Given the description of an element on the screen output the (x, y) to click on. 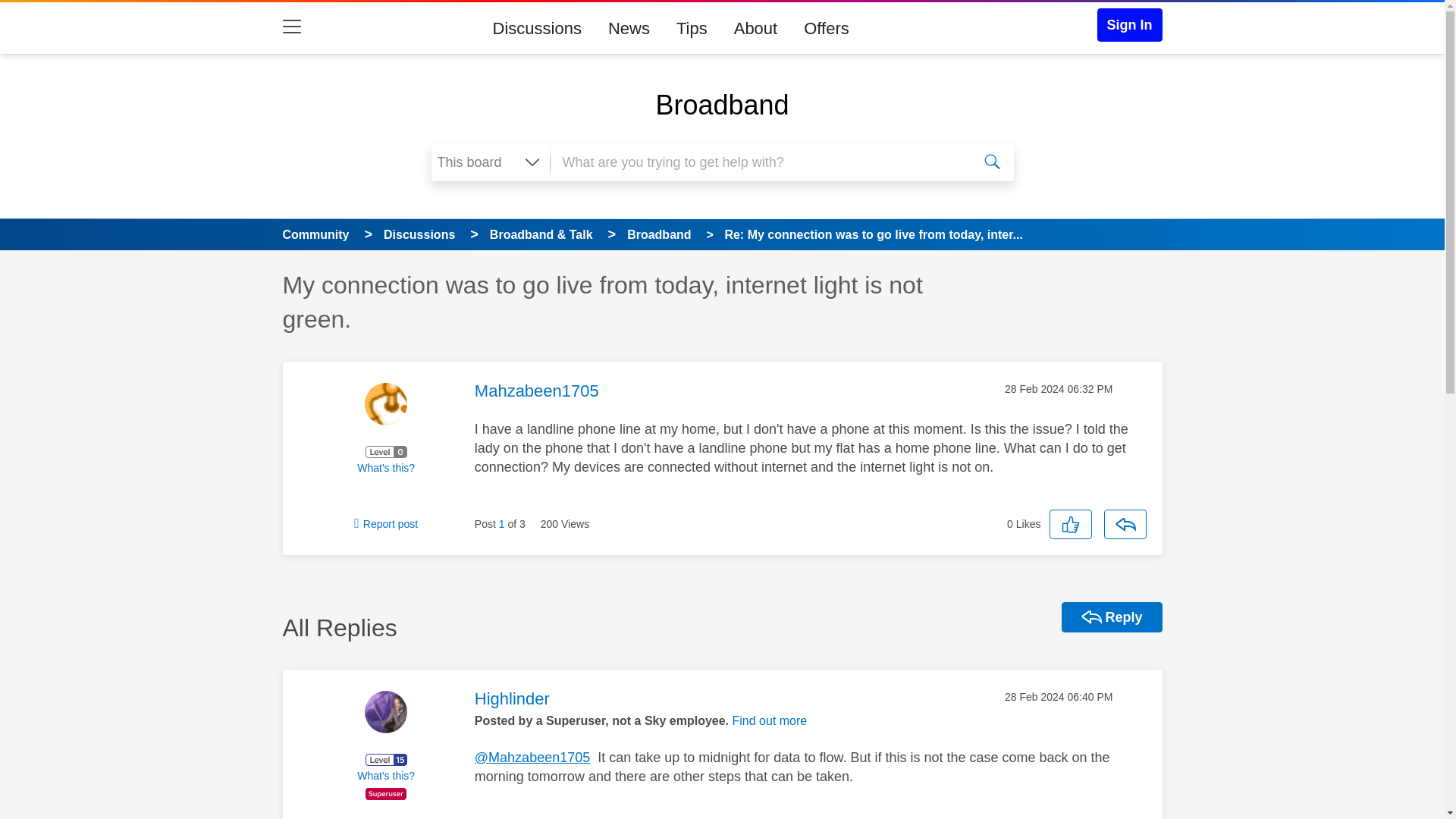
Click here to Like this post. (1070, 523)
What's this? (385, 467)
Report post (385, 523)
Broadband (722, 104)
The total number of Likes this post has received. (1023, 523)
Search (992, 161)
Mahzabeen1705 (385, 403)
Search (992, 161)
Community (315, 234)
